Given the description of an element on the screen output the (x, y) to click on. 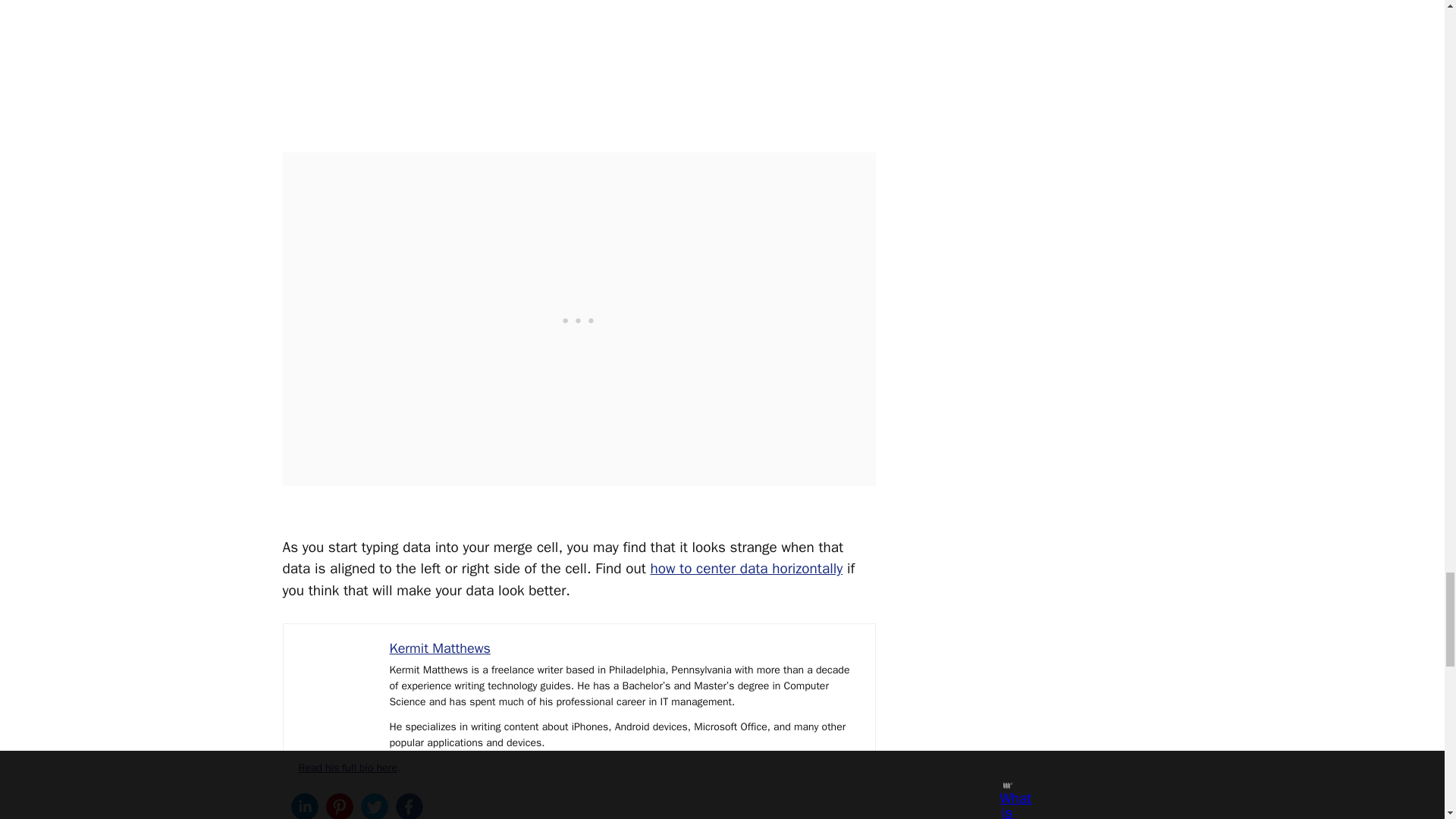
Kermit Matthews (440, 647)
how to center data horizontally (746, 568)
Read his full bio here (347, 767)
